Given the description of an element on the screen output the (x, y) to click on. 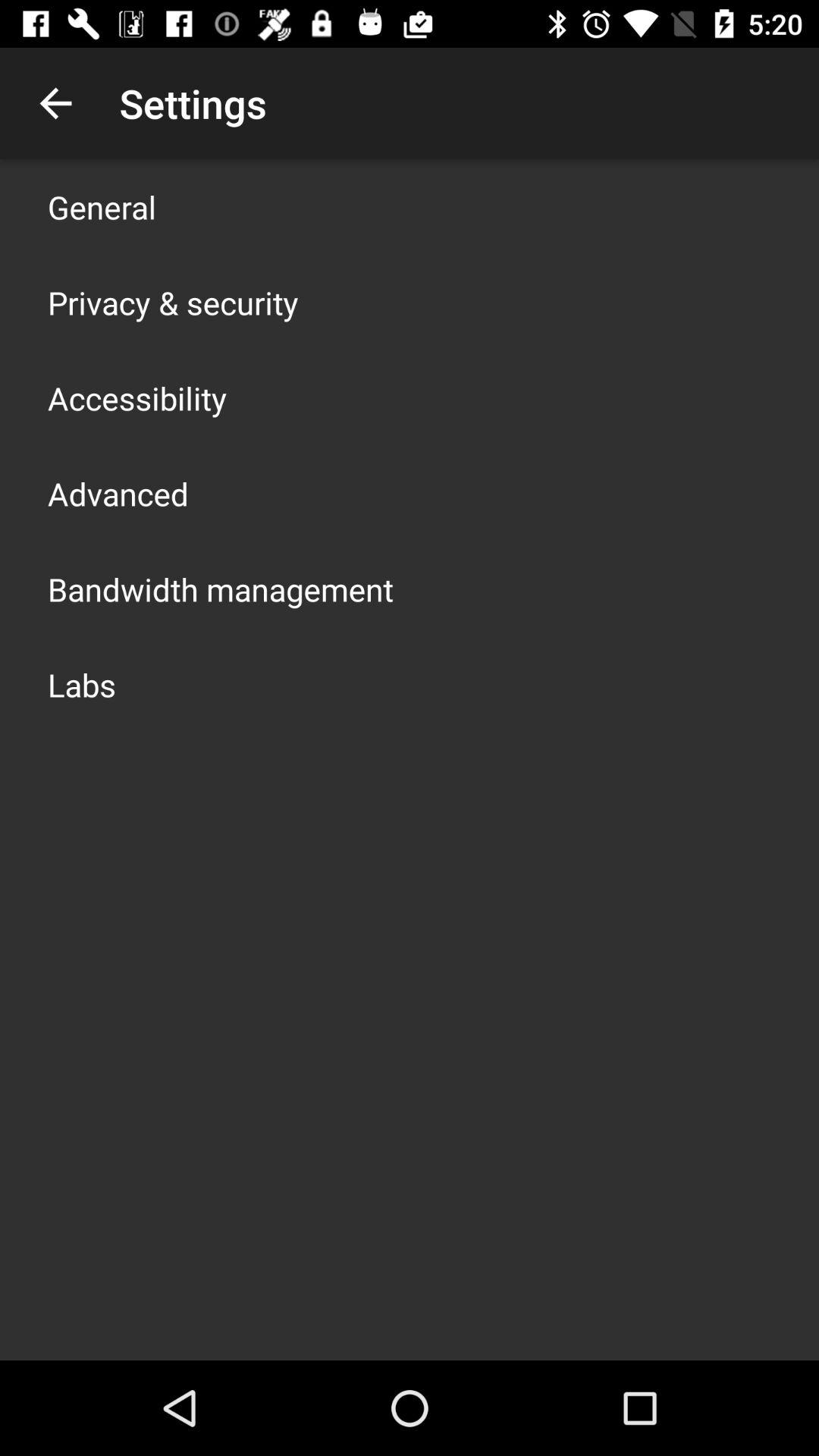
click accessibility app (136, 397)
